Given the description of an element on the screen output the (x, y) to click on. 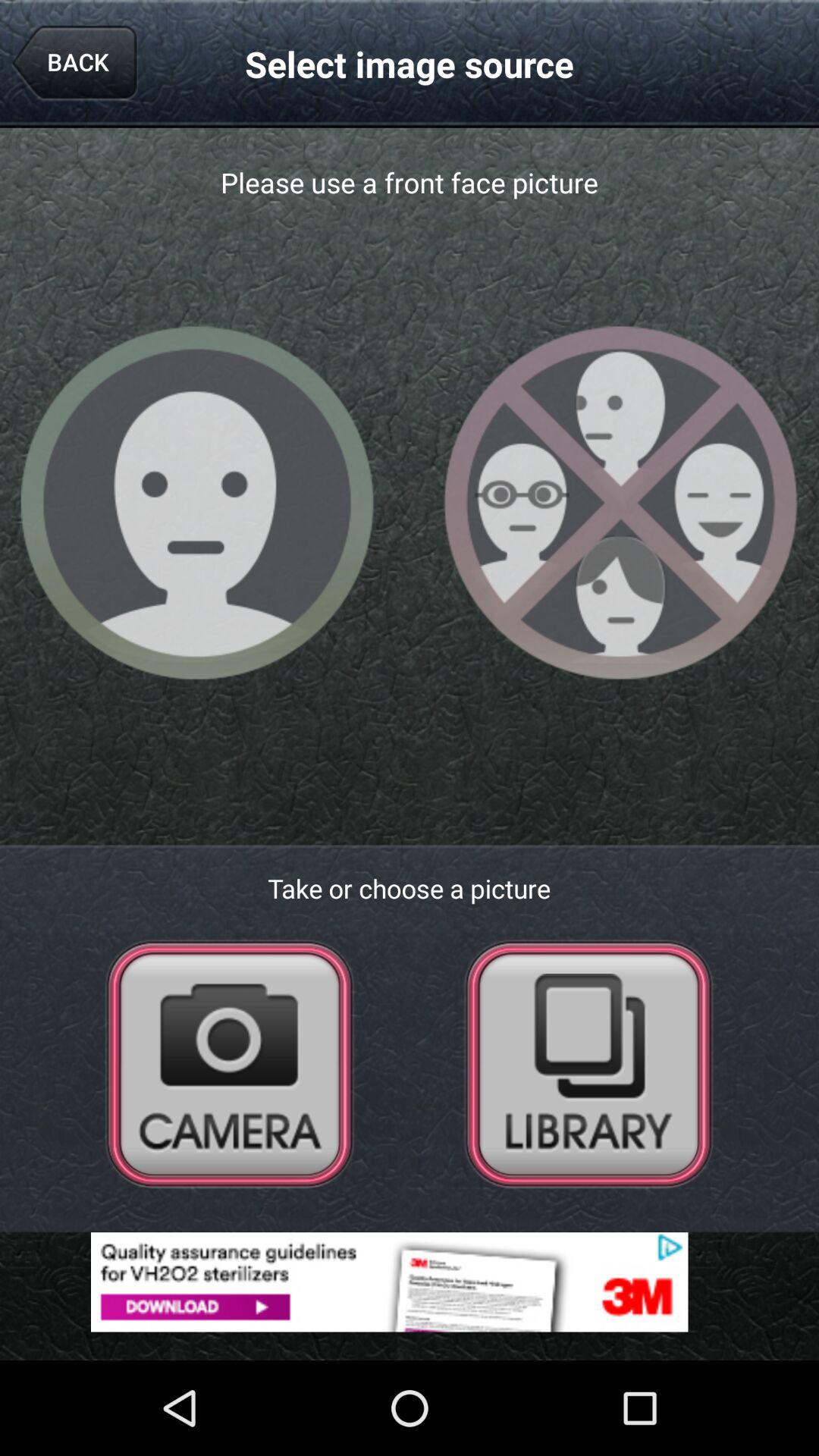
camera selection (229, 1063)
